Given the description of an element on the screen output the (x, y) to click on. 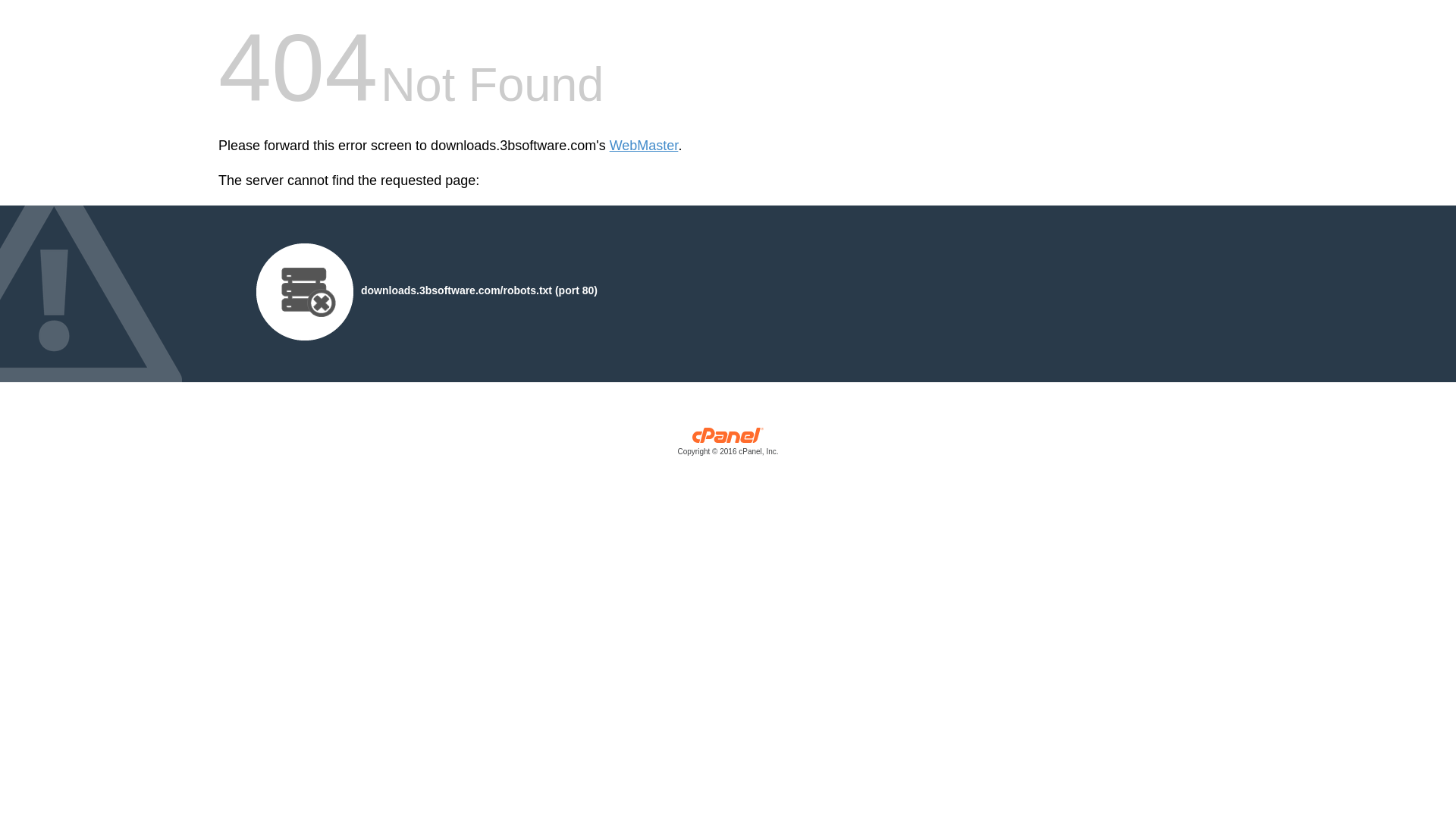
WebMaster Element type: text (643, 145)
